Given the description of an element on the screen output the (x, y) to click on. 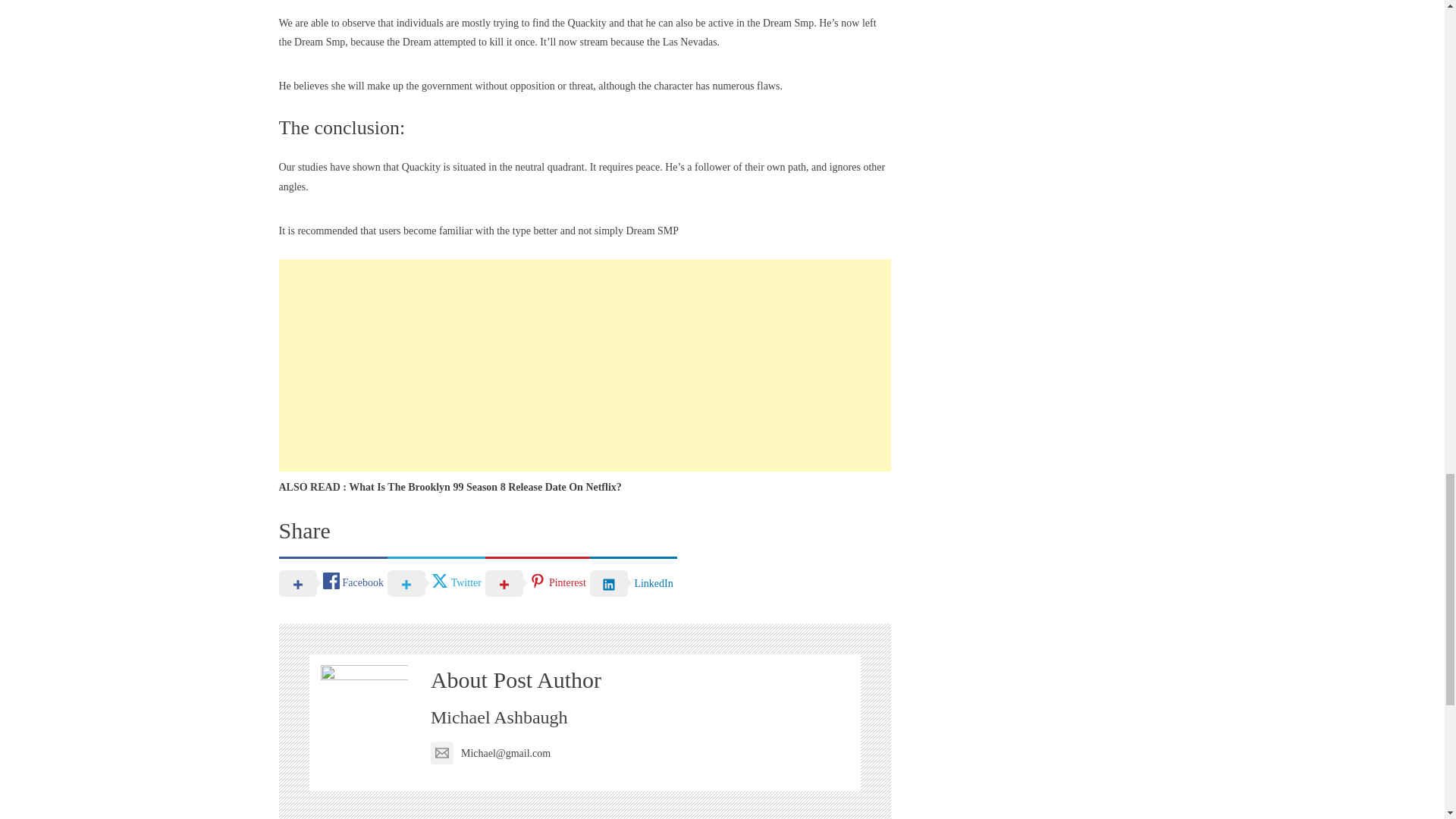
Pinterest (536, 582)
Michael Ashbaugh (498, 717)
What Is The Brooklyn 99 Season 8 Release Date On Netflix? (485, 487)
Twitter (435, 582)
LinkedIn (633, 582)
Facebook (333, 582)
